Given the description of an element on the screen output the (x, y) to click on. 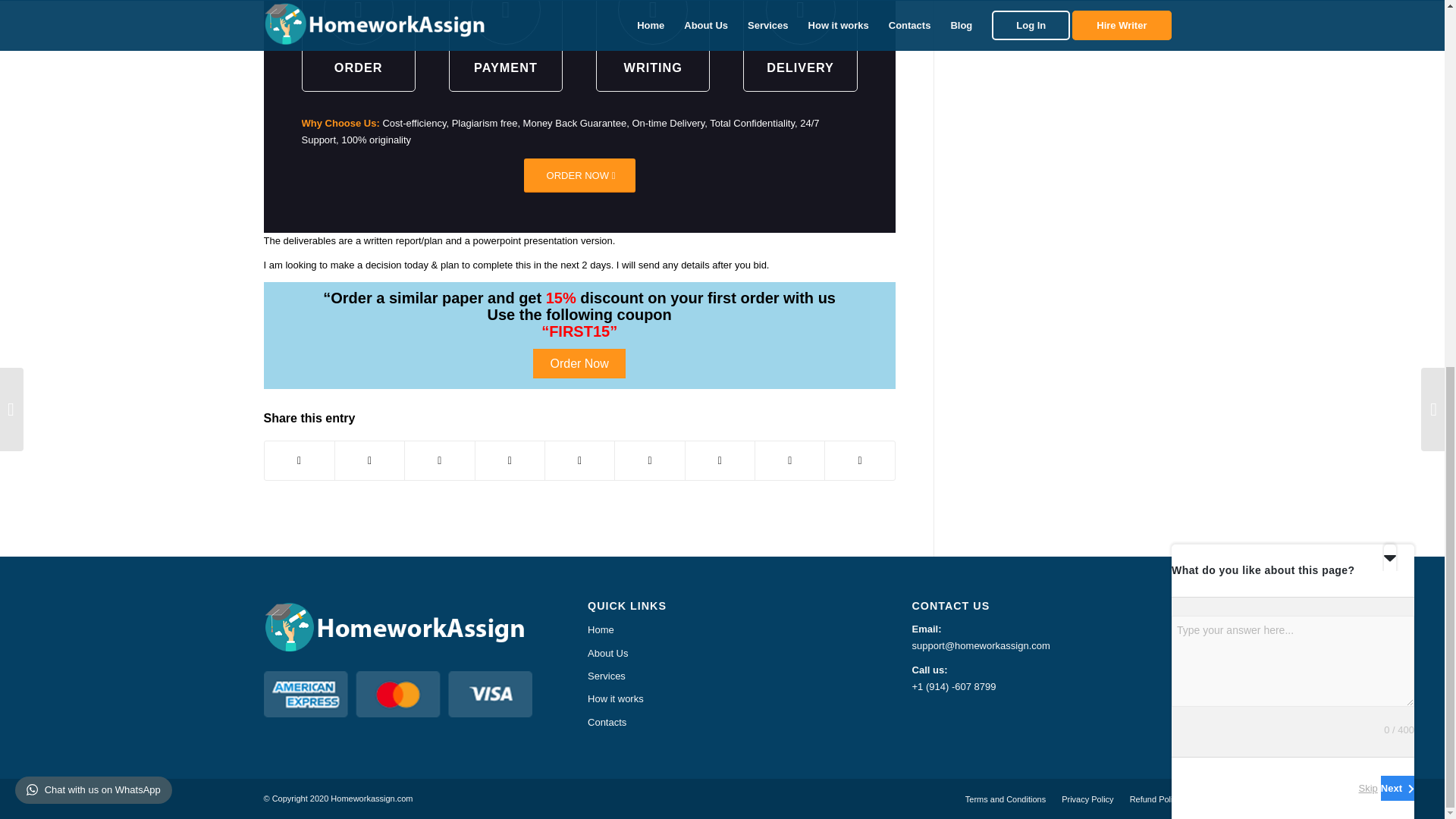
ORDER NOW (579, 175)
Terms and Conditions (1005, 798)
About Us (722, 653)
Services (722, 676)
Order Now (578, 363)
Contacts (722, 722)
How it works (722, 698)
Home (722, 630)
